Given the description of an element on the screen output the (x, y) to click on. 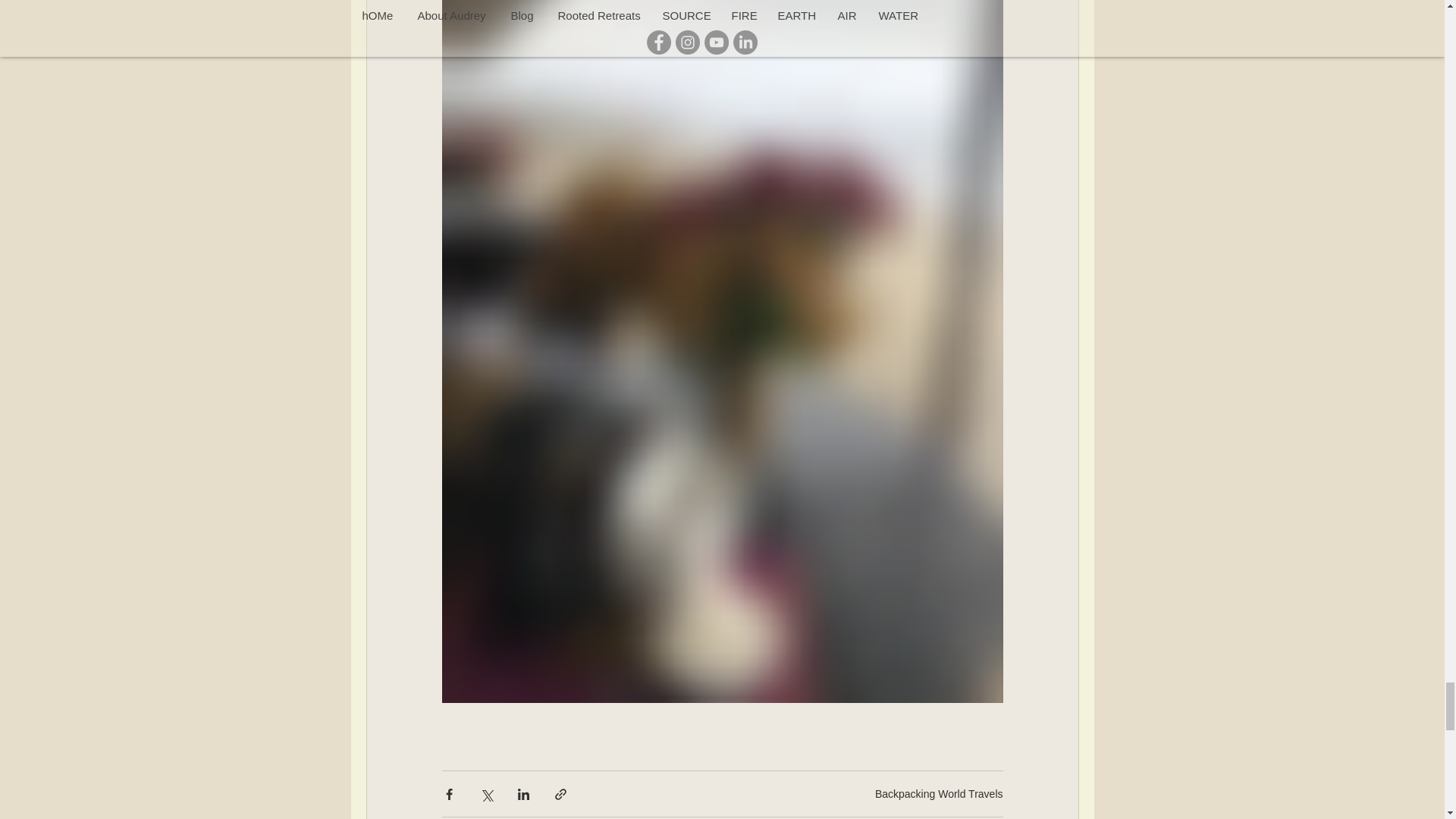
Backpacking World Travels (939, 793)
